Given the description of an element on the screen output the (x, y) to click on. 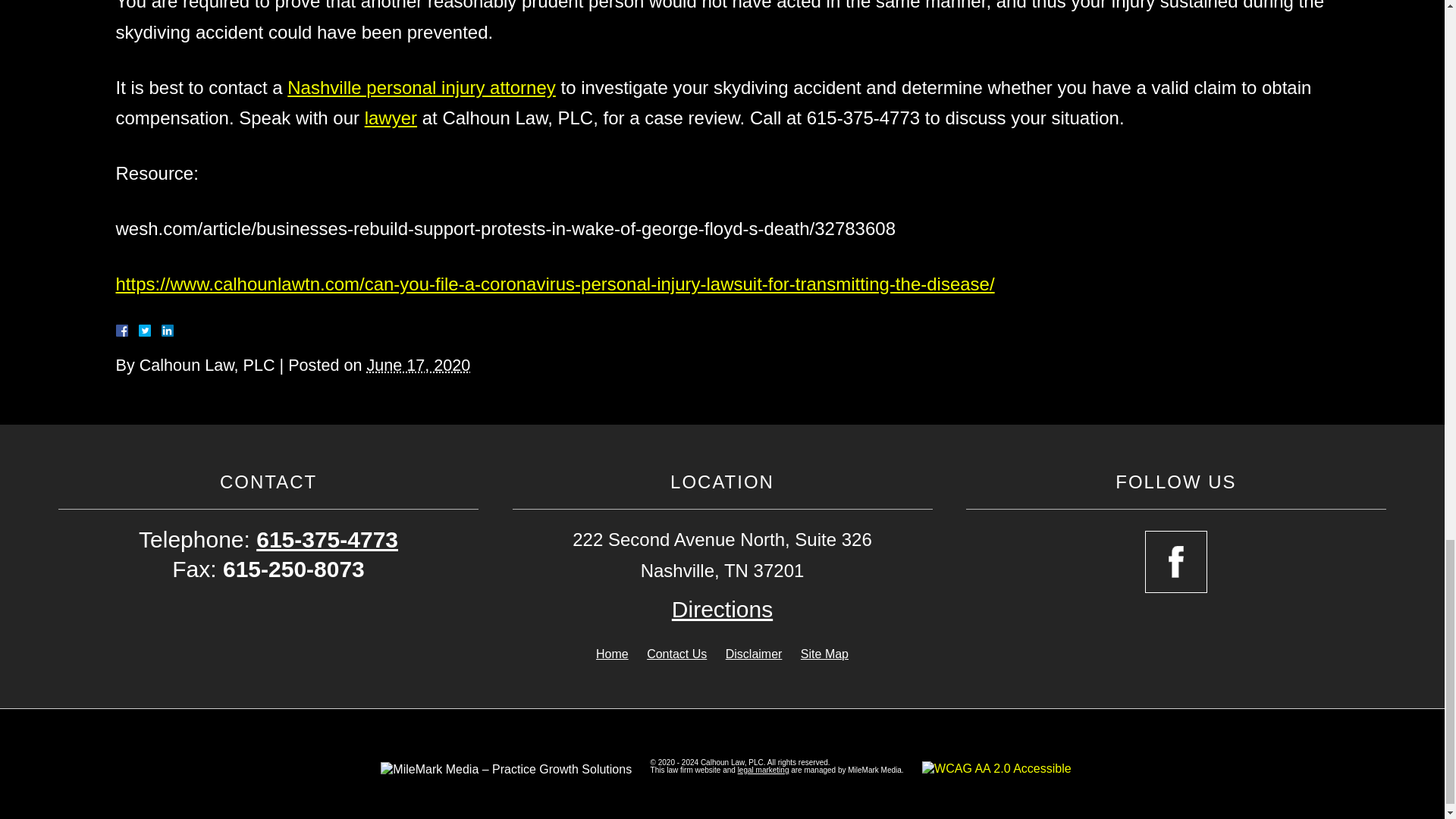
2020-06-17T03:00:16-0700 (418, 364)
Open Facebook in a New Window (1175, 561)
Open MileMarkMedia.com in a New Window (763, 769)
Open Google Map in a New Window (722, 609)
